Given the description of an element on the screen output the (x, y) to click on. 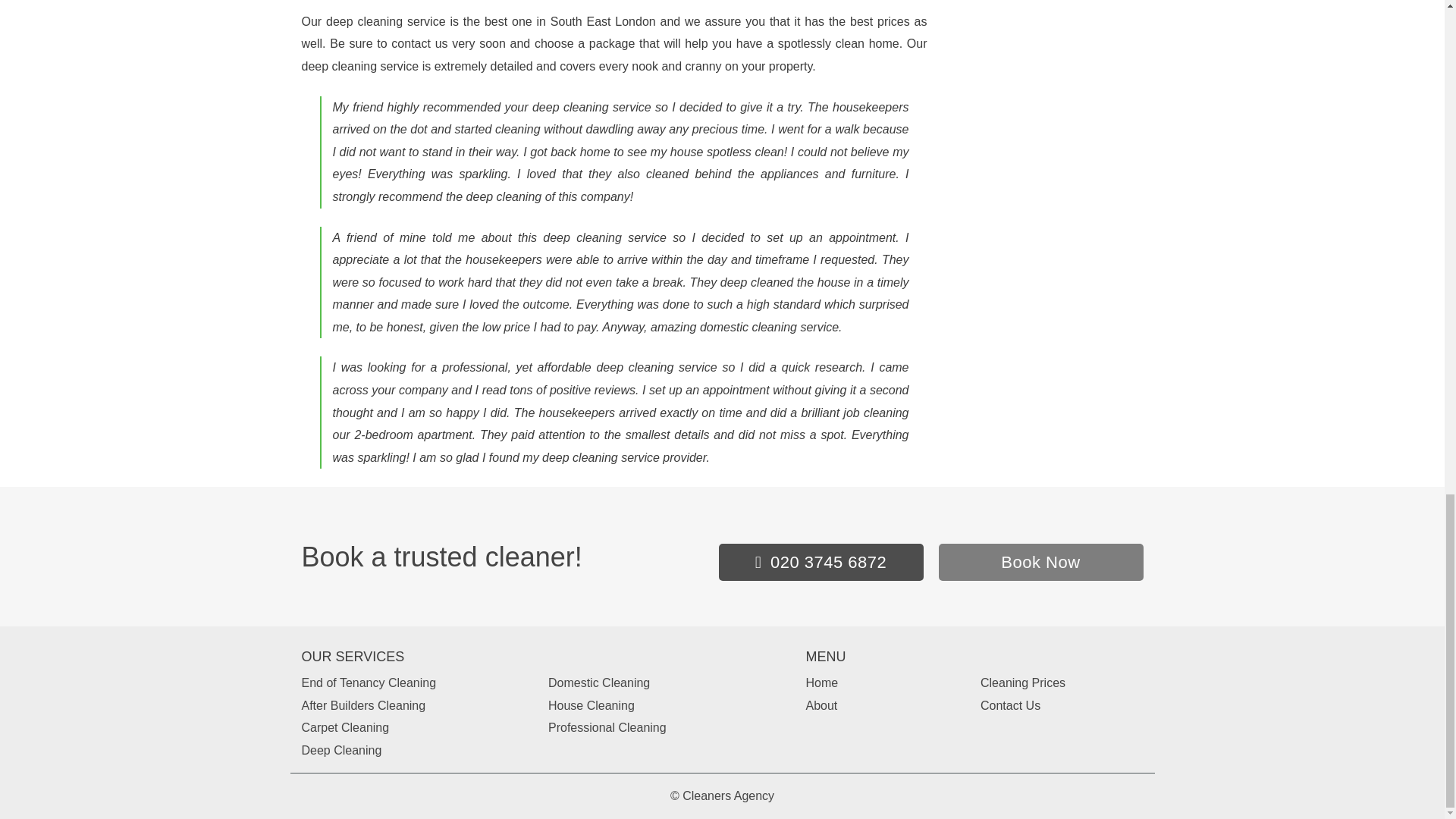
020 3745 6872 (821, 561)
End of Tenancy Cleaning (368, 682)
Domestic Cleaning (598, 682)
Carpet Cleaning (345, 727)
Book Now (1040, 561)
After Builders Cleaning (363, 705)
Deep Cleaning (341, 749)
House Cleaning (591, 705)
